Given the description of an element on the screen output the (x, y) to click on. 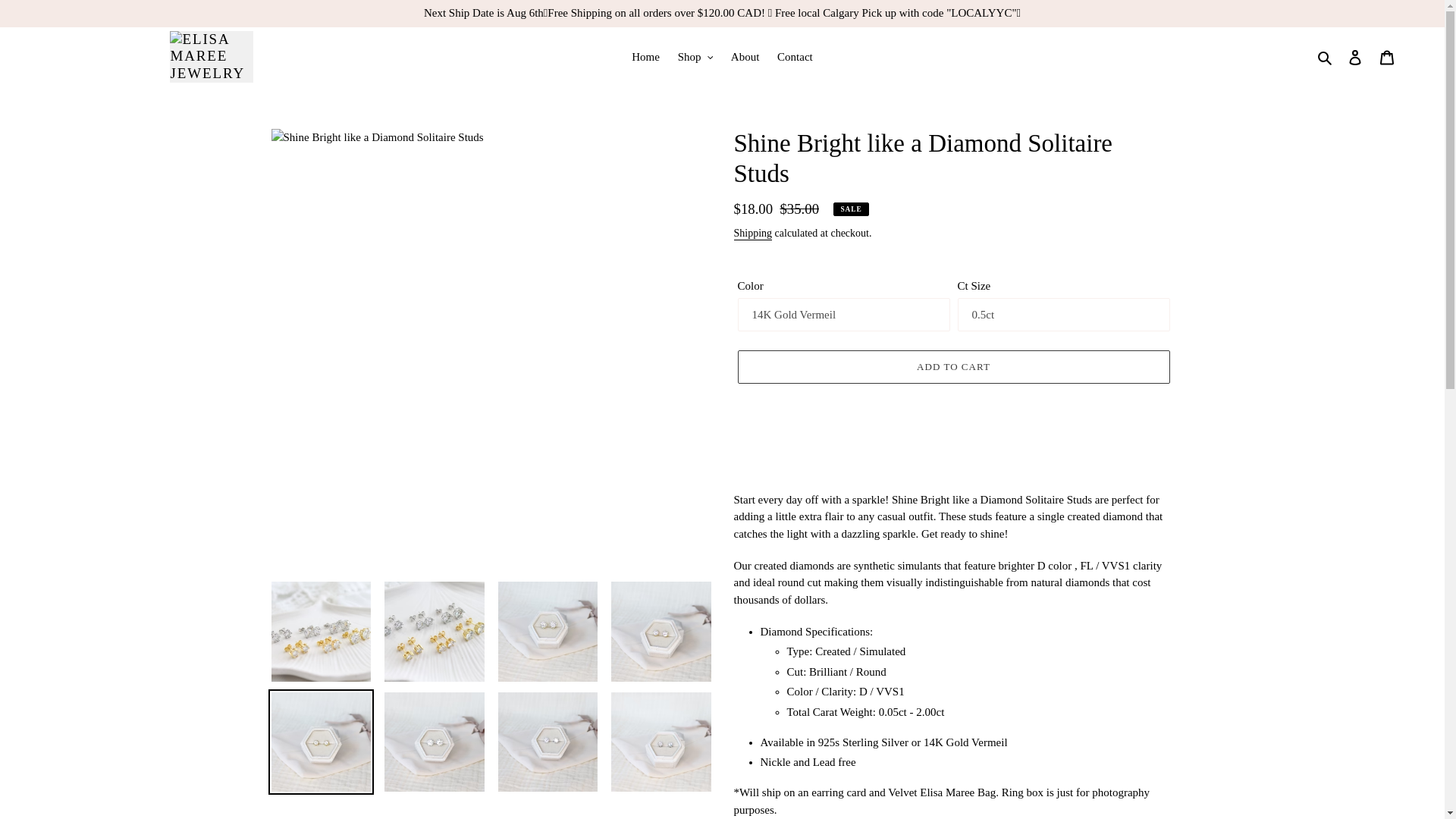
Search (1326, 56)
About (745, 56)
Cart (1387, 56)
Home (645, 56)
Shop (694, 56)
Log in (1355, 56)
Contact (795, 56)
